Given the description of an element on the screen output the (x, y) to click on. 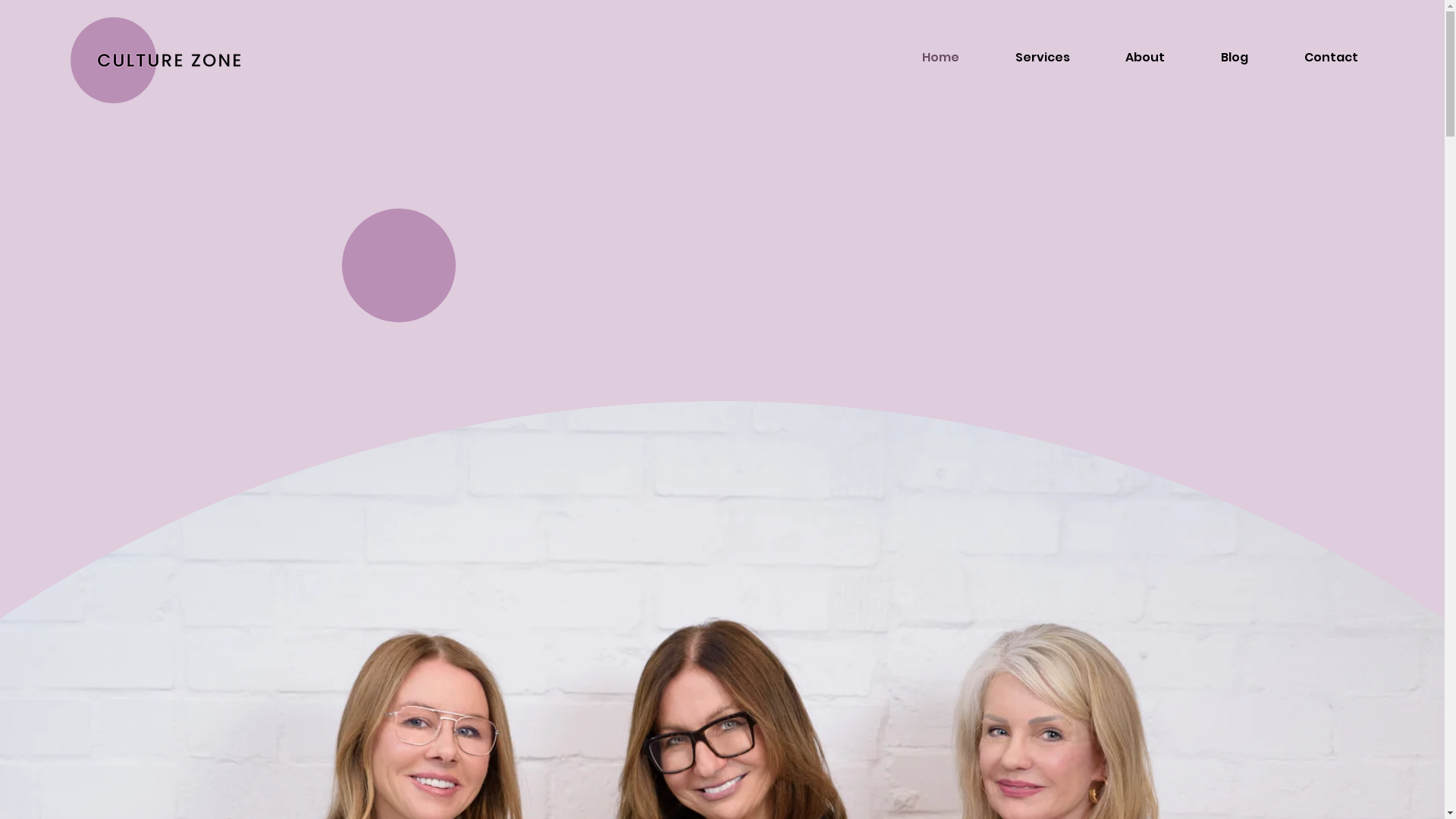
Services Element type: text (1042, 57)
Home Element type: text (940, 57)
Contact Element type: text (1331, 57)
Blog Element type: text (1234, 57)
Culture Zone Logo Element type: hover (155, 60)
About Element type: text (1145, 57)
